Given the description of an element on the screen output the (x, y) to click on. 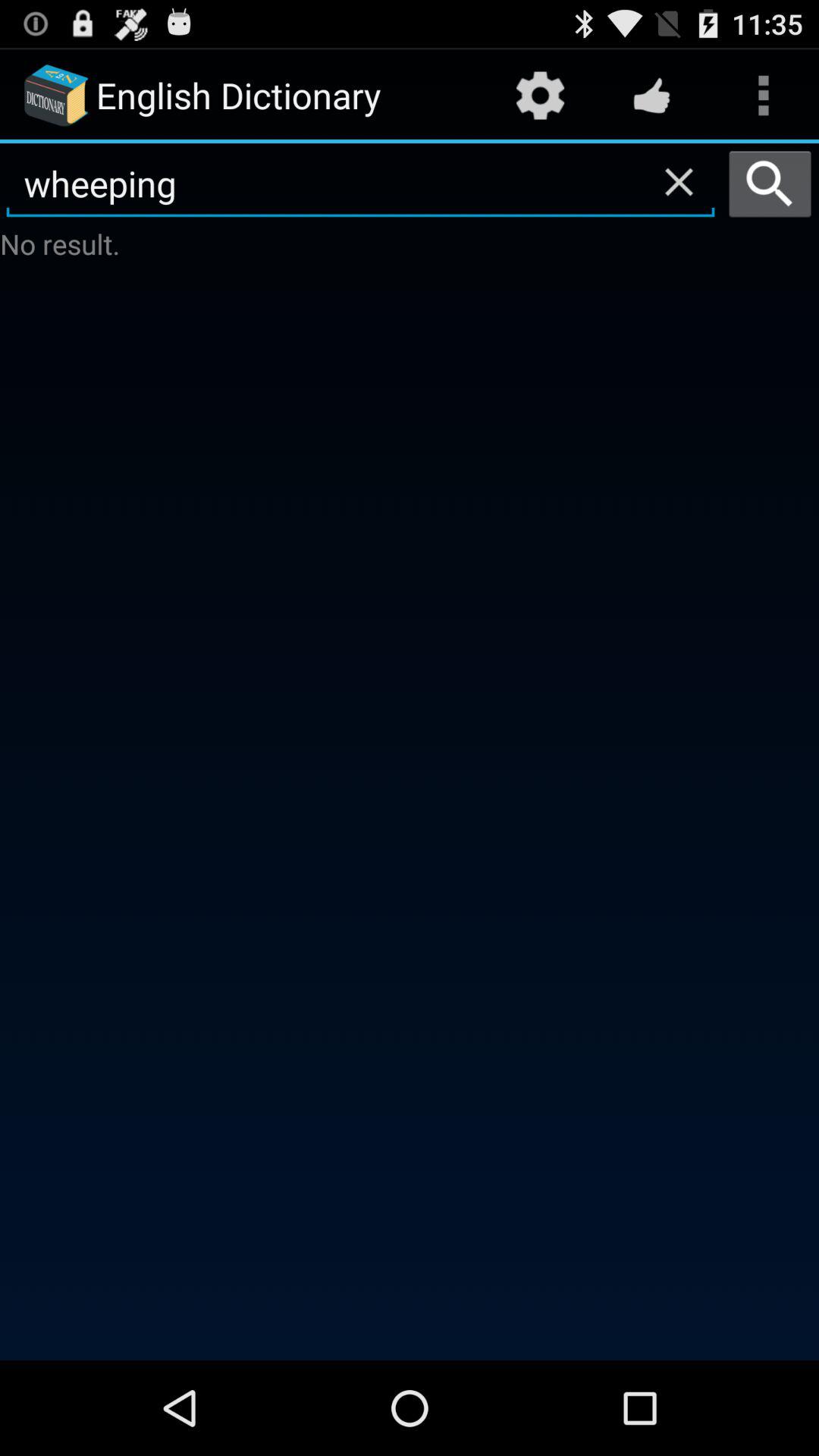
turn off the icon to the right of wheeping item (770, 184)
